Given the description of an element on the screen output the (x, y) to click on. 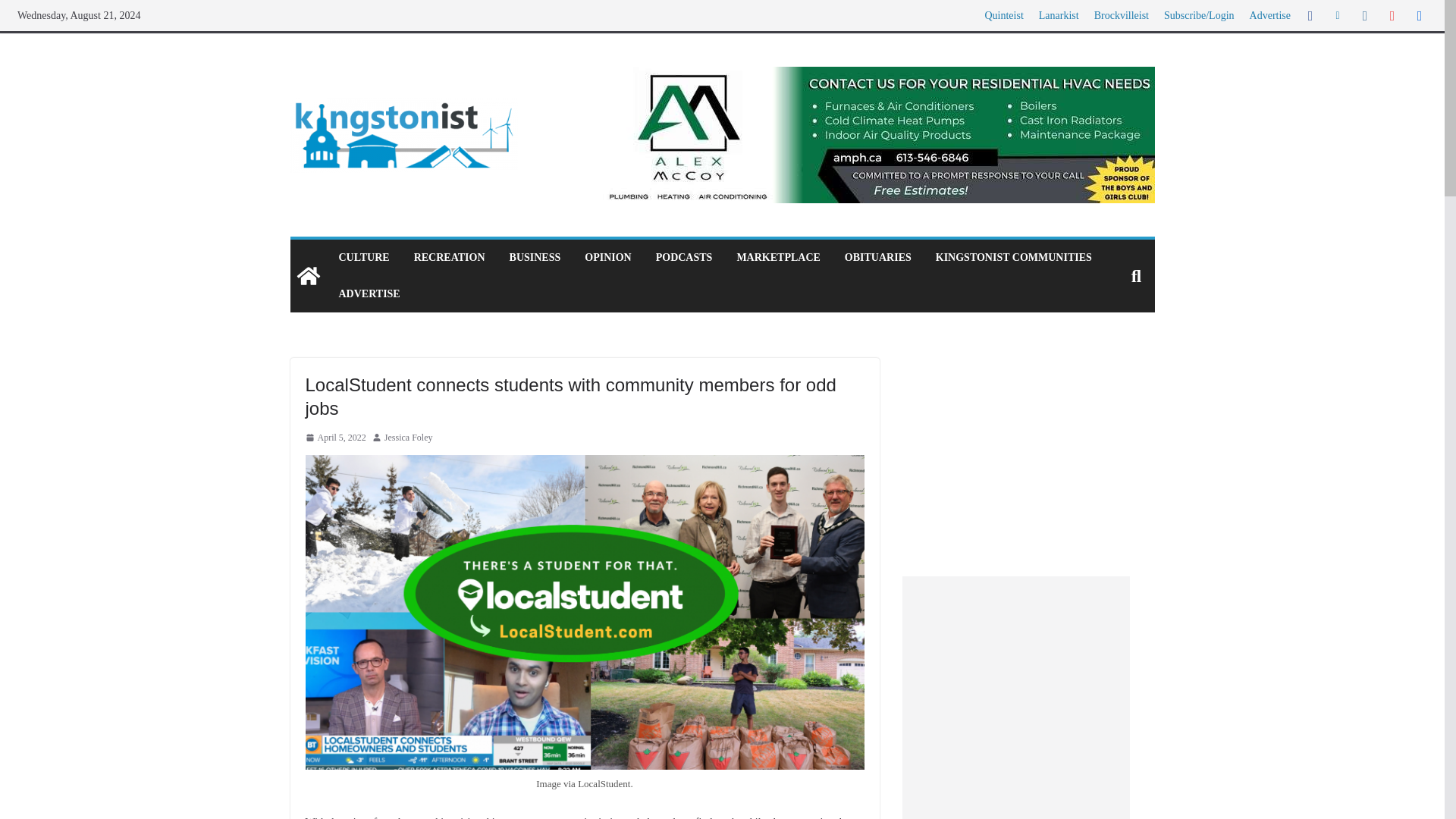
OPINION (607, 257)
Lanarkist (1058, 15)
Quinteist (1003, 15)
Brockvilleist (1121, 15)
Advertisement (1015, 697)
Advertise (1269, 15)
PODCASTS (684, 257)
Jessica Foley (408, 437)
OBITUARIES (877, 257)
BUSINESS (534, 257)
